Given the description of an element on the screen output the (x, y) to click on. 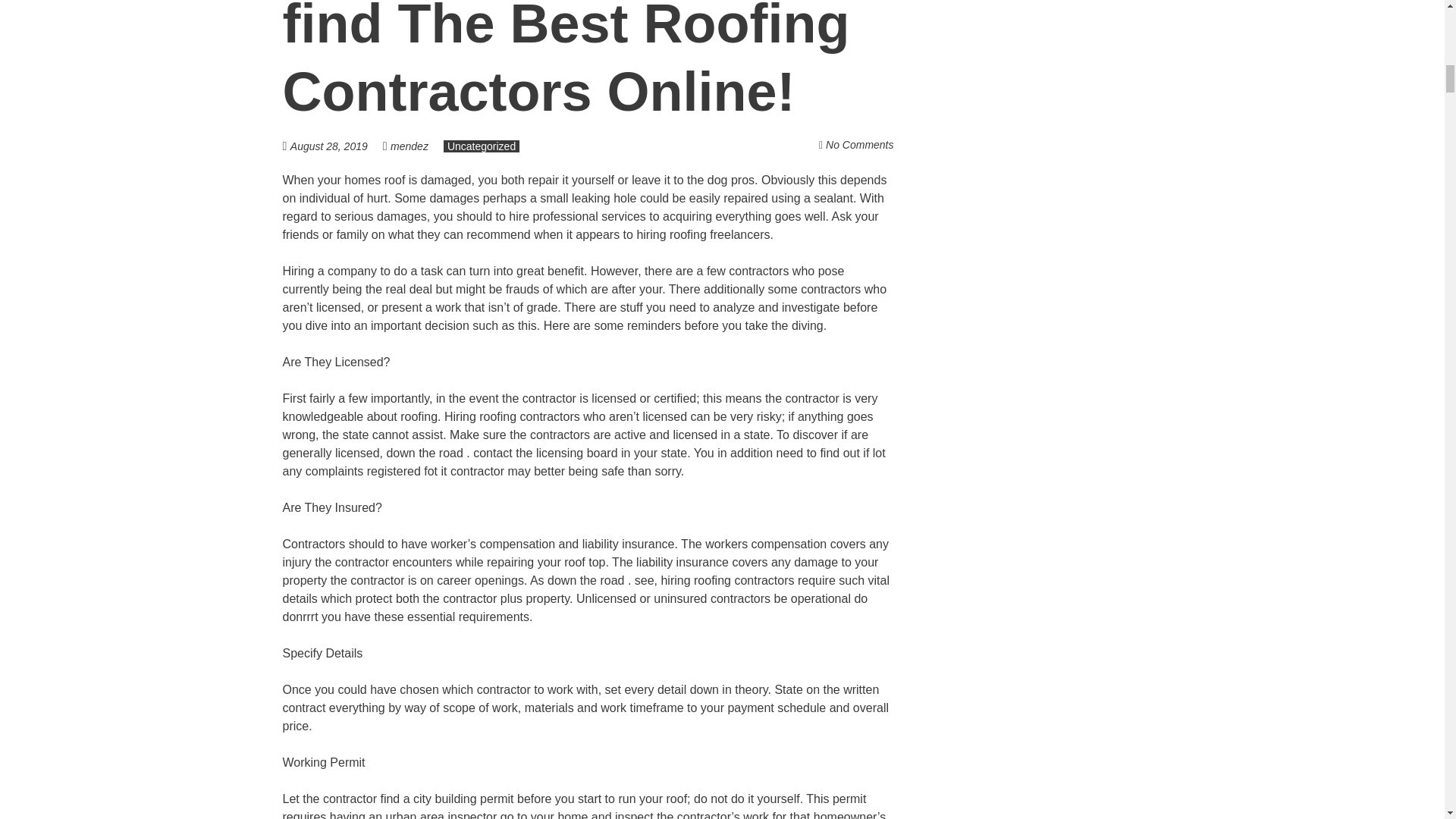
August 28, 2019 (335, 145)
Uncategorized (481, 146)
mendez (409, 146)
No Comments (859, 144)
